Given the description of an element on the screen output the (x, y) to click on. 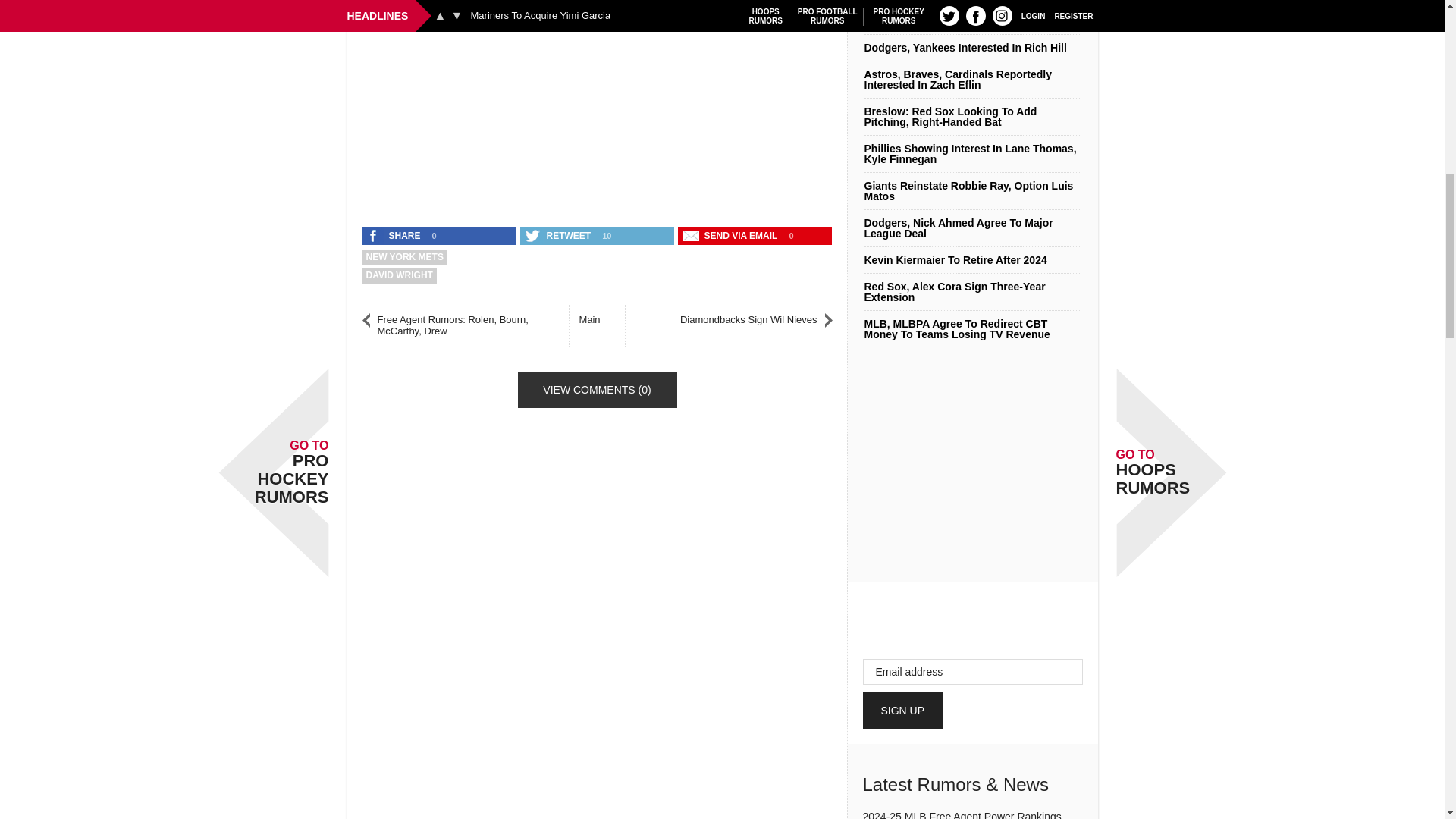
Share 'Mets Notes: Wright, Payroll, Dickey' on Facebook (395, 235)
Sign Up (903, 710)
Retweet 'Mets Notes: Wright, Payroll, Dickey' on Twitter (558, 235)
Send Mets Notes: Wright, Payroll, Dickey with an email (732, 235)
